Given the description of an element on the screen output the (x, y) to click on. 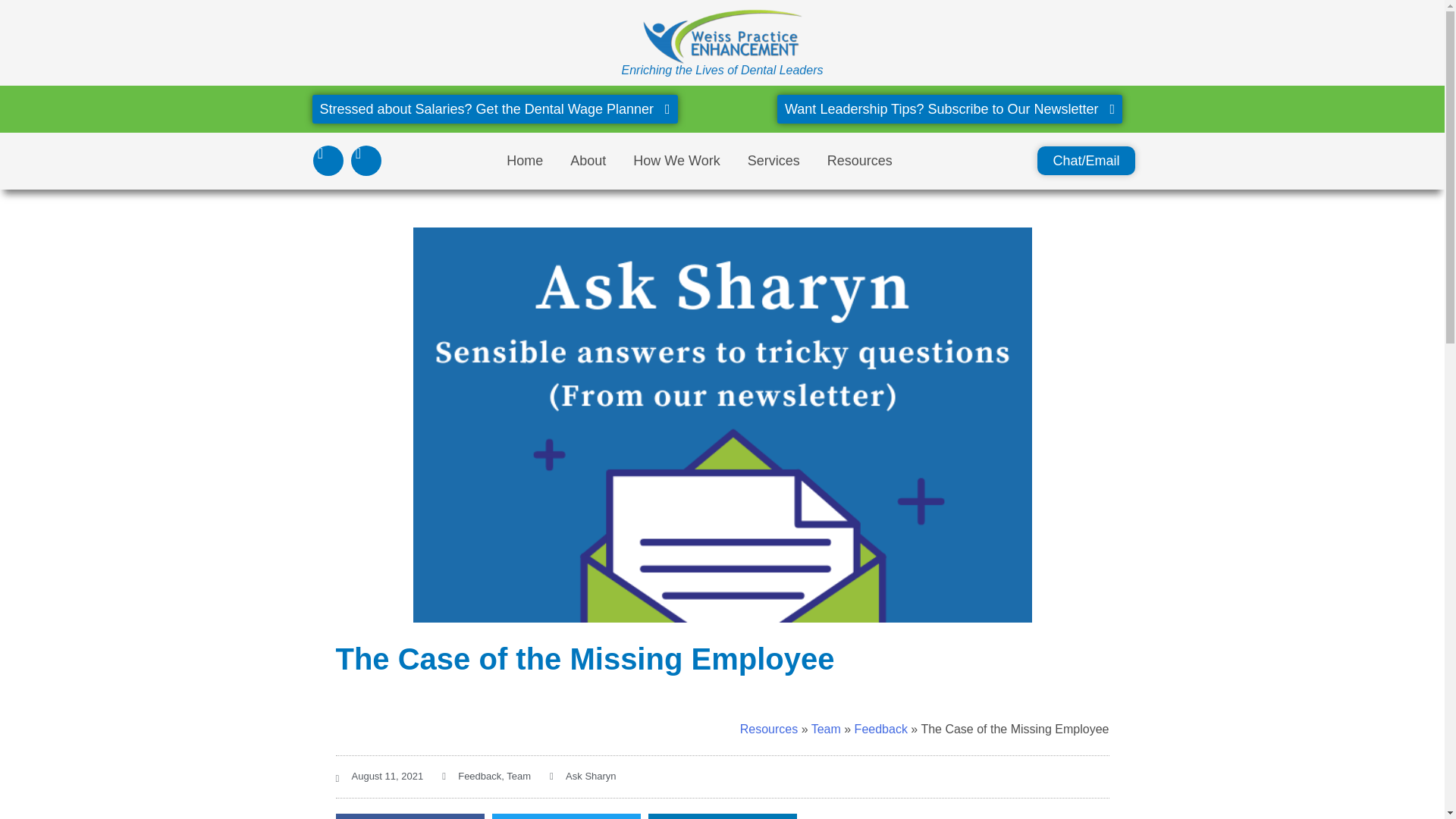
Services (773, 160)
Want Leadership Tips? Subscribe to Our Newsletter (949, 109)
Stressed about Salaries? Get the Dental Wage Planner (495, 109)
Resources (859, 160)
Facebook (365, 160)
About (587, 160)
How We Work (676, 160)
Linkedin (327, 160)
Home (524, 160)
